Given the description of an element on the screen output the (x, y) to click on. 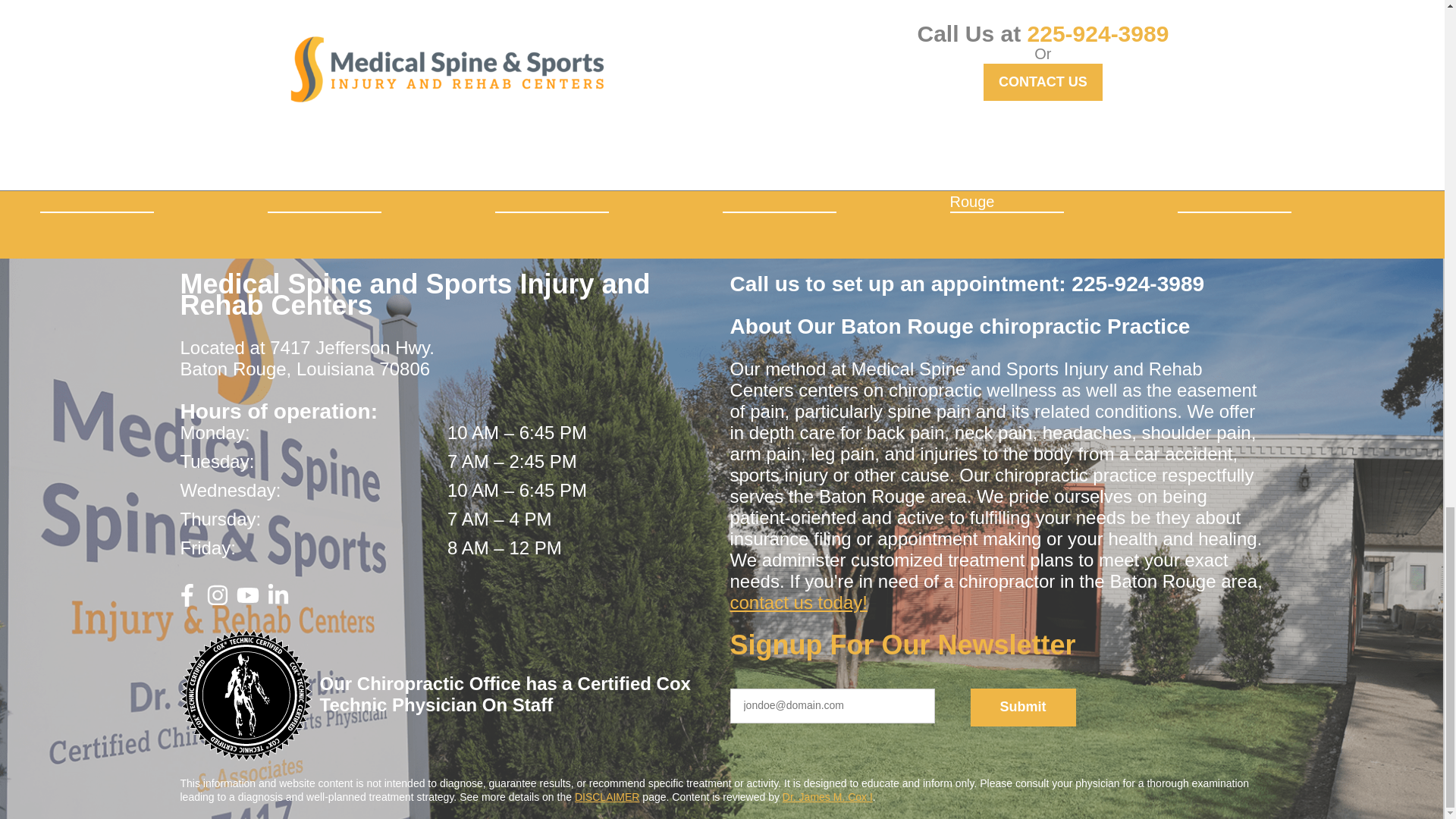
Subscribe to us on YouTube (247, 600)
Connect with us on LinkedIn (277, 600)
Follow us on Instagram (217, 600)
Like us on Facebook (187, 600)
Submit (1023, 707)
